Given the description of an element on the screen output the (x, y) to click on. 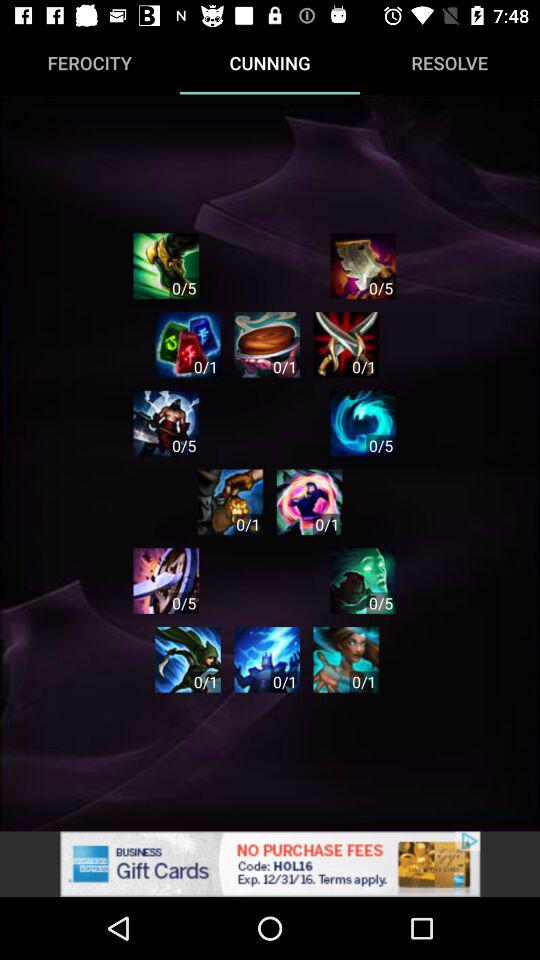
see the advertisement (270, 864)
